Given the description of an element on the screen output the (x, y) to click on. 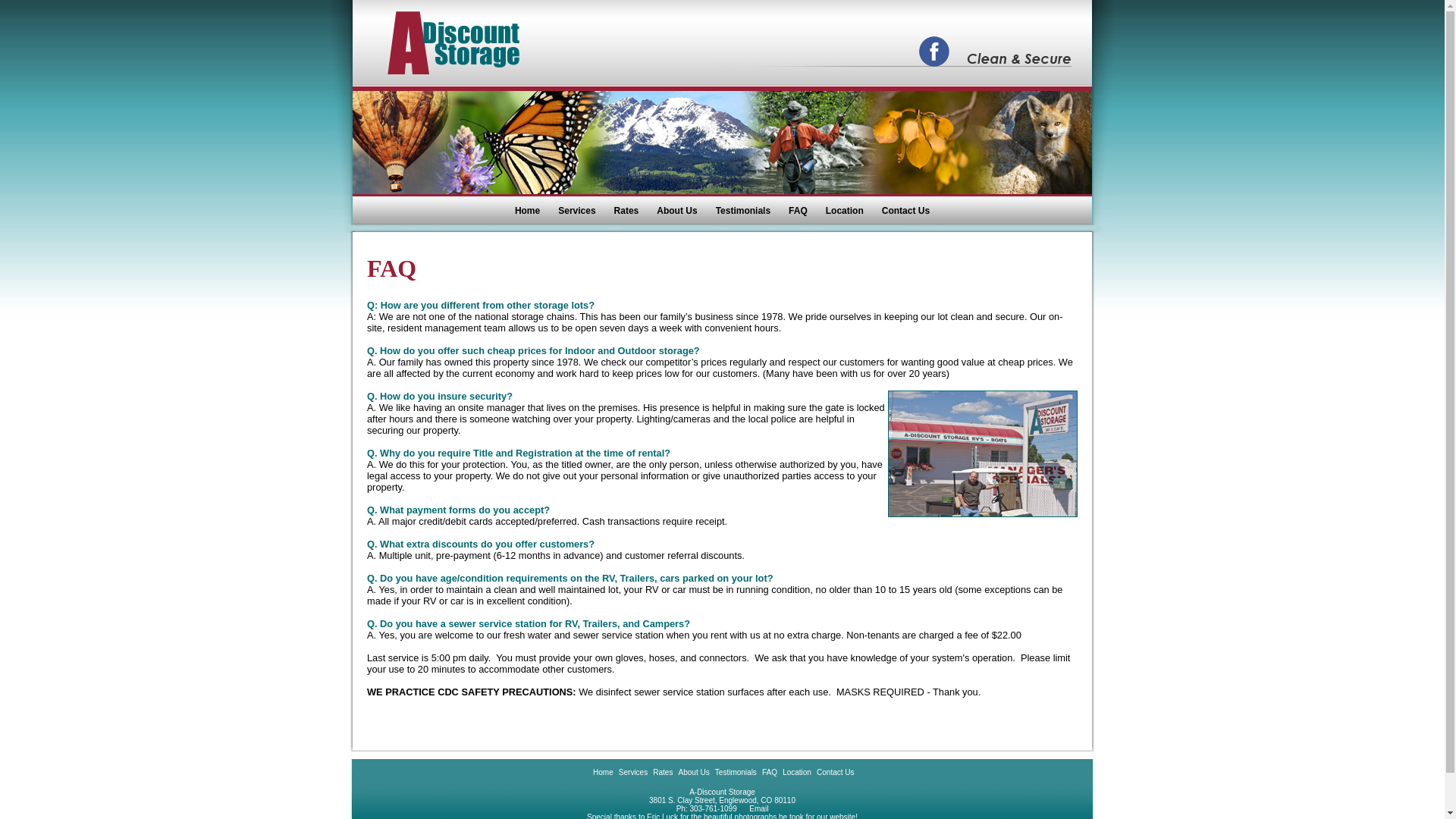
Contact Us (905, 210)
Rates (662, 772)
Location (796, 772)
Contact Us (834, 772)
Home (526, 210)
Location (844, 210)
Email (758, 808)
FAQ (769, 772)
FAQ (797, 210)
About Us (694, 772)
